Given the description of an element on the screen output the (x, y) to click on. 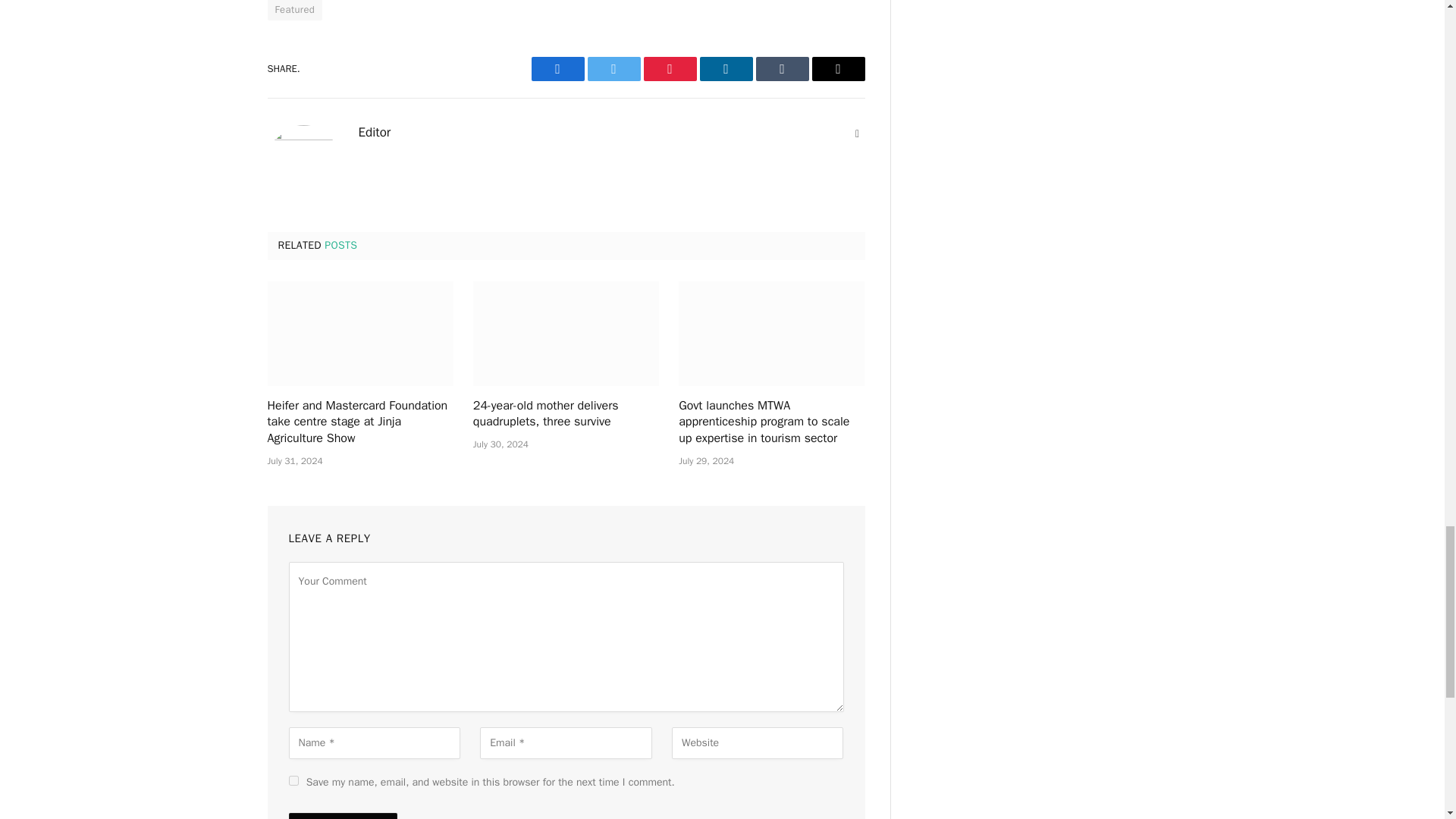
yes (293, 780)
Post Comment (342, 816)
